Given the description of an element on the screen output the (x, y) to click on. 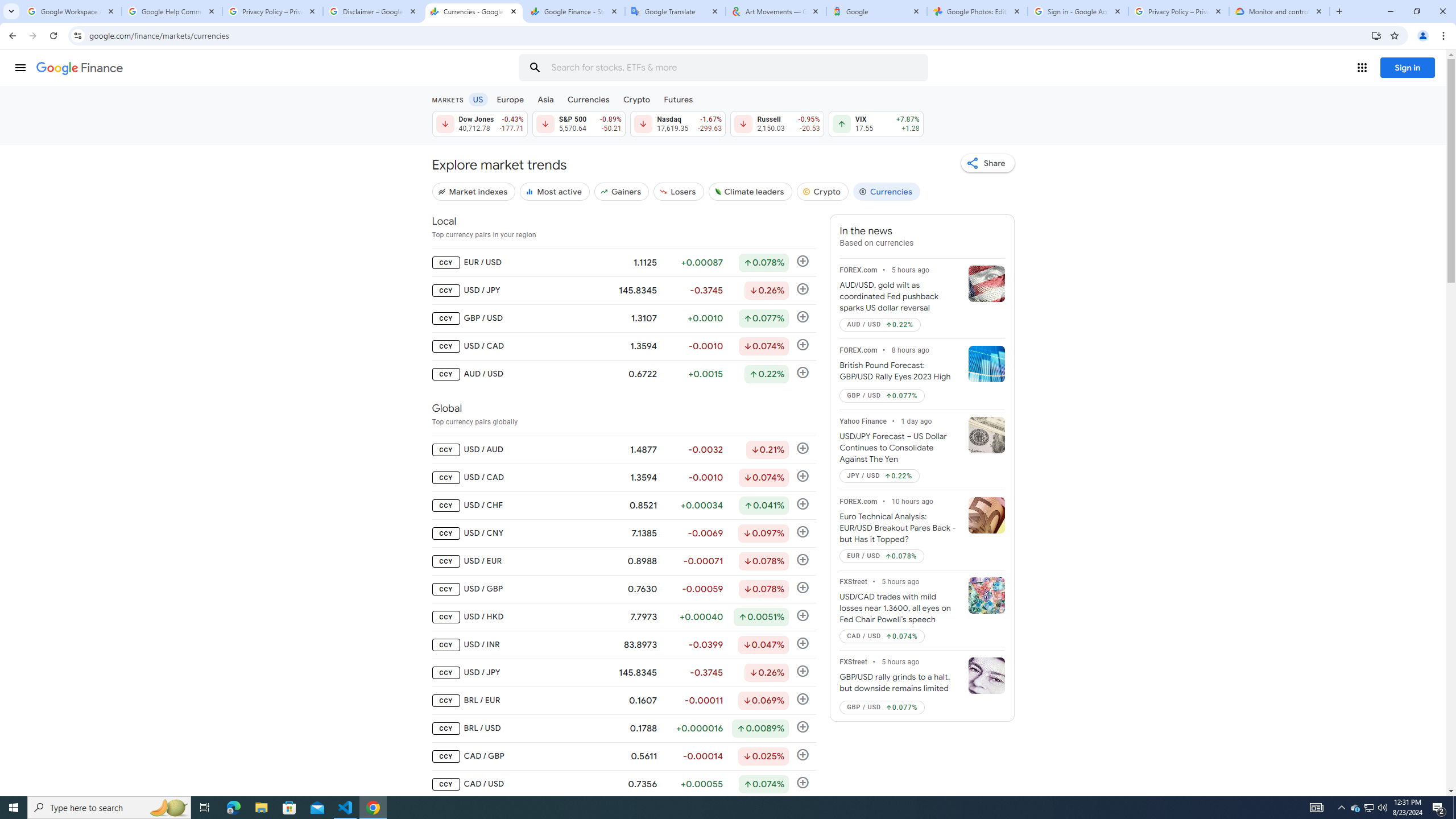
CCY EUR / USD 1.1125 +0.00087 Up by 0.078% Follow (623, 262)
VIX 17.55 Up by 7.87% +1.28 (875, 123)
Google Workspace Admin Community (71, 11)
JPY / USD Up by 0.22% (880, 476)
GBP / USD Up by 0.077% (883, 707)
CCY USD / EUR 0.8988 -0.00071 Down by 0.078% Follow (623, 560)
CCY USD / CNY 7.1385 -0.0069 Down by 0.097% Follow (623, 532)
CCY USD / INR 83.8973 -0.0399 Down by 0.047% Follow (623, 644)
Russell 2,150.03 Down by 0.95% -20.53 (777, 123)
